Given the description of an element on the screen output the (x, y) to click on. 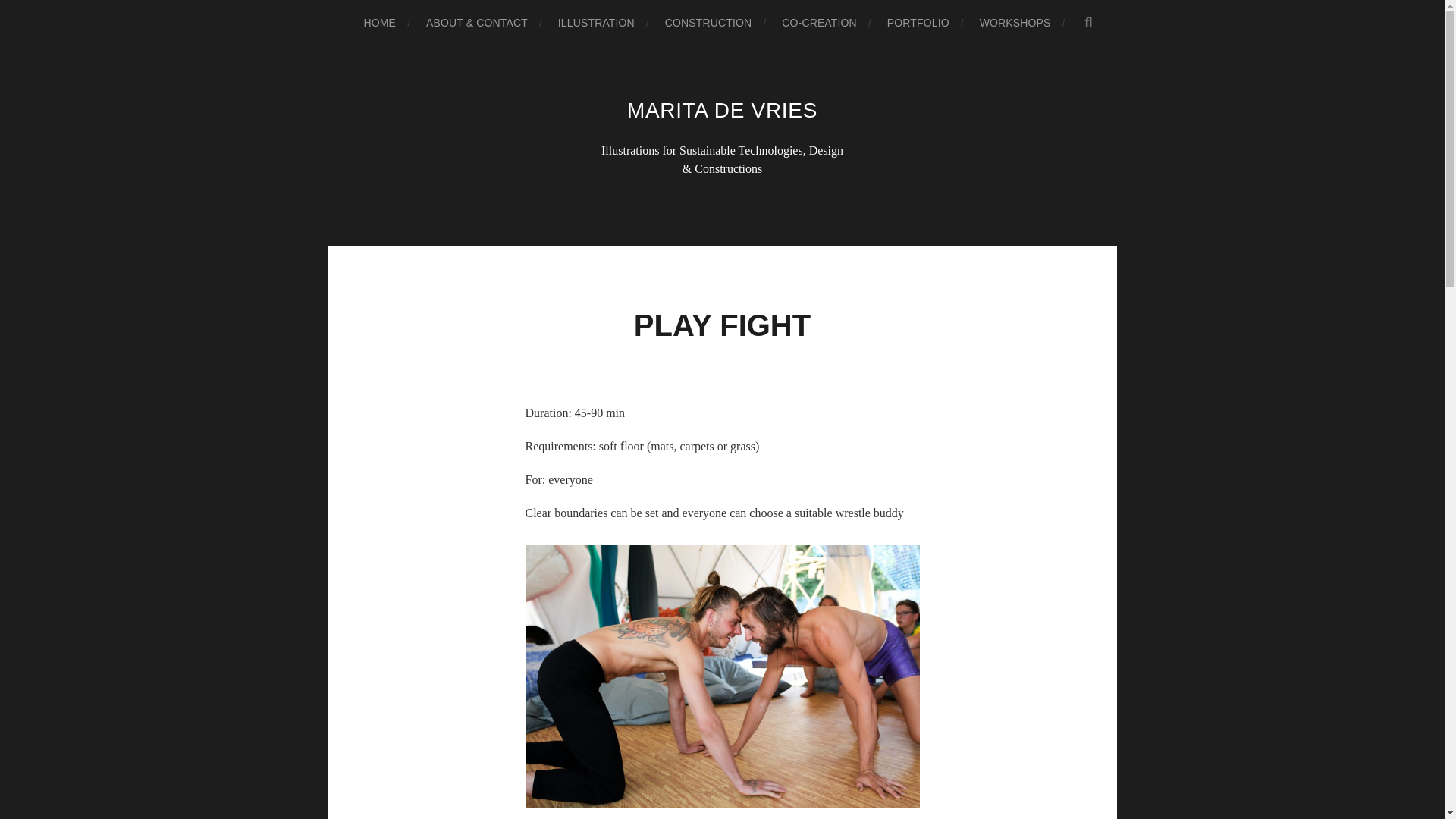
ILLUSTRATION (595, 22)
CO-CREATION (819, 22)
WORKSHOPS (1015, 22)
MARITA DE VRIES (721, 110)
CONSTRUCTION (708, 22)
PORTFOLIO (917, 22)
